Given the description of an element on the screen output the (x, y) to click on. 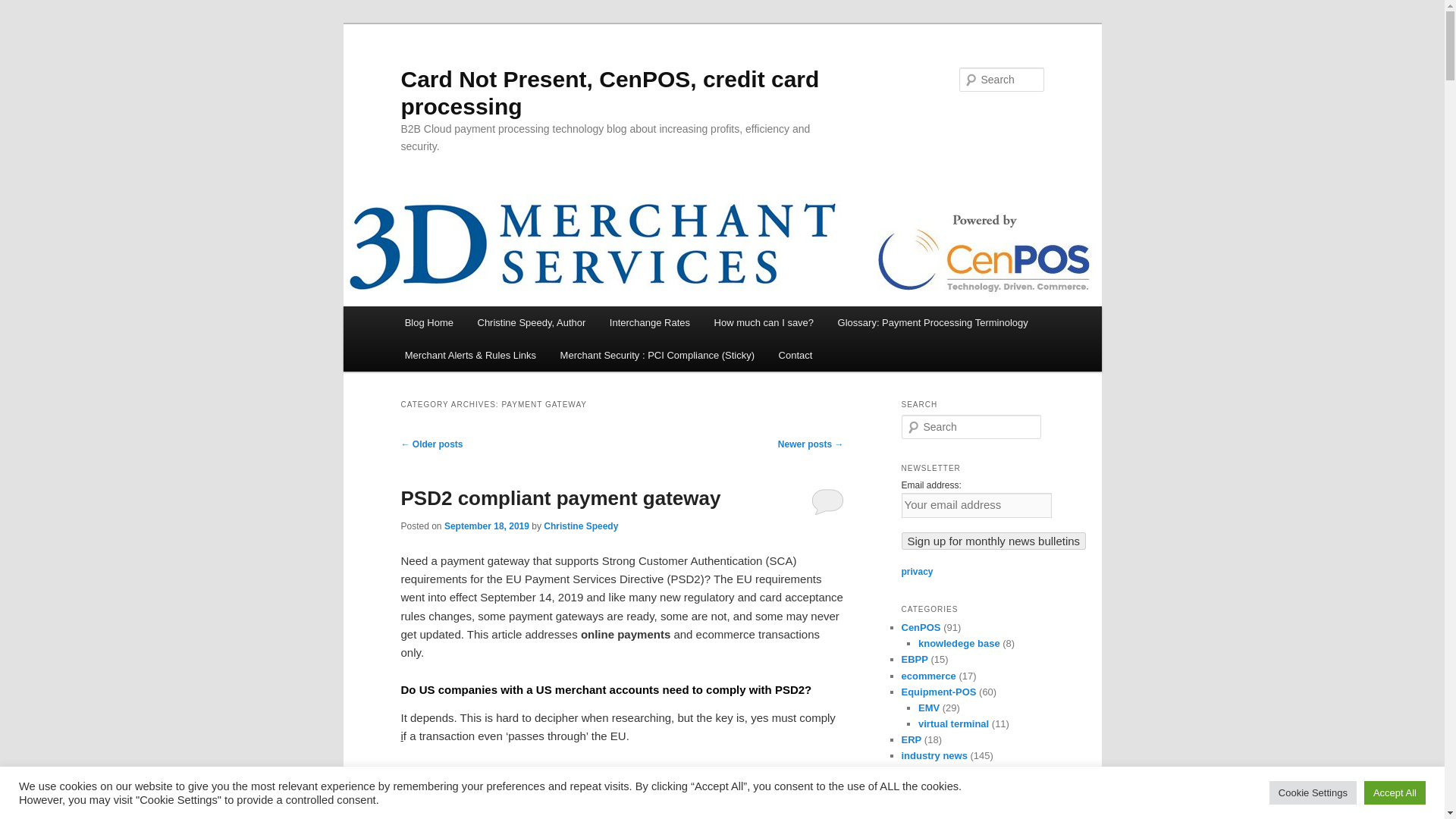
Christine Speedy, Author (530, 322)
interchange rate fees (763, 322)
PSD2 compliant payment gateway (560, 497)
PCI Compliance (657, 355)
Contact (795, 355)
Card Not Present, CenPOS, credit card processing (609, 92)
Search (24, 8)
September 18, 2019 (486, 525)
Christine Speedy (530, 322)
Interchange Rates (648, 322)
